Given the description of an element on the screen output the (x, y) to click on. 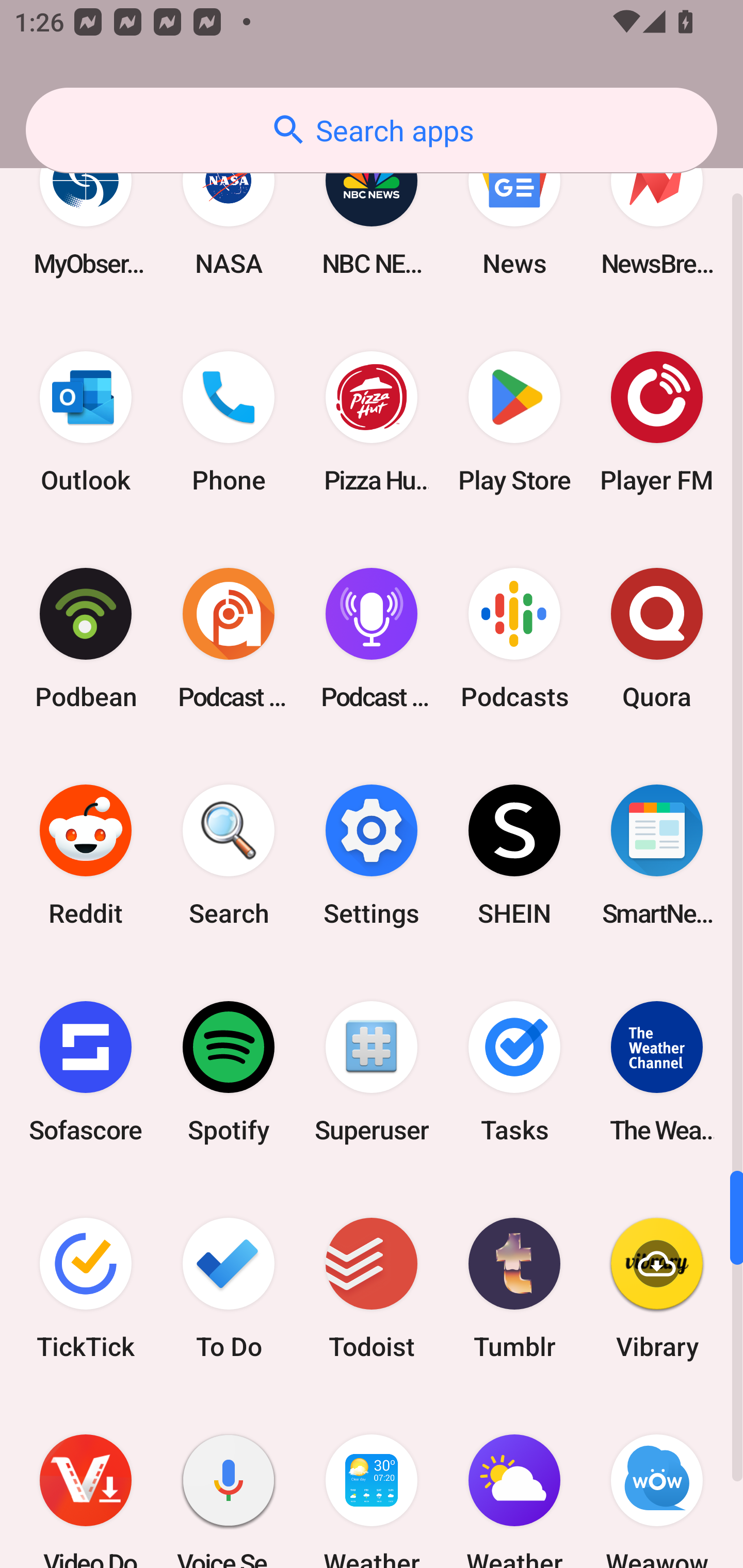
  Search apps (371, 130)
MyObservatory (85, 208)
NASA (228, 208)
NBC NEWS (371, 208)
News (514, 208)
NewsBreak (656, 208)
Outlook (85, 421)
Phone (228, 421)
Pizza Hut HK & Macau (371, 421)
Play Store (514, 421)
Player FM (656, 421)
Podbean (85, 637)
Podcast Addict (228, 637)
Podcast Player (371, 637)
Podcasts (514, 637)
Quora (656, 637)
Reddit (85, 854)
Search (228, 854)
Settings (371, 854)
SHEIN (514, 854)
SmartNews (656, 854)
Sofascore (85, 1071)
Spotify (228, 1071)
Superuser (371, 1071)
Tasks (514, 1071)
The Weather Channel (656, 1071)
TickTick (85, 1288)
To Do (228, 1288)
Todoist (371, 1288)
Tumblr (514, 1288)
Vibrary (656, 1288)
Video Downloader & Ace Player (85, 1482)
Voice Search (228, 1482)
Weather (371, 1482)
Weather (514, 1482)
Weawow (656, 1482)
